Given the description of an element on the screen output the (x, y) to click on. 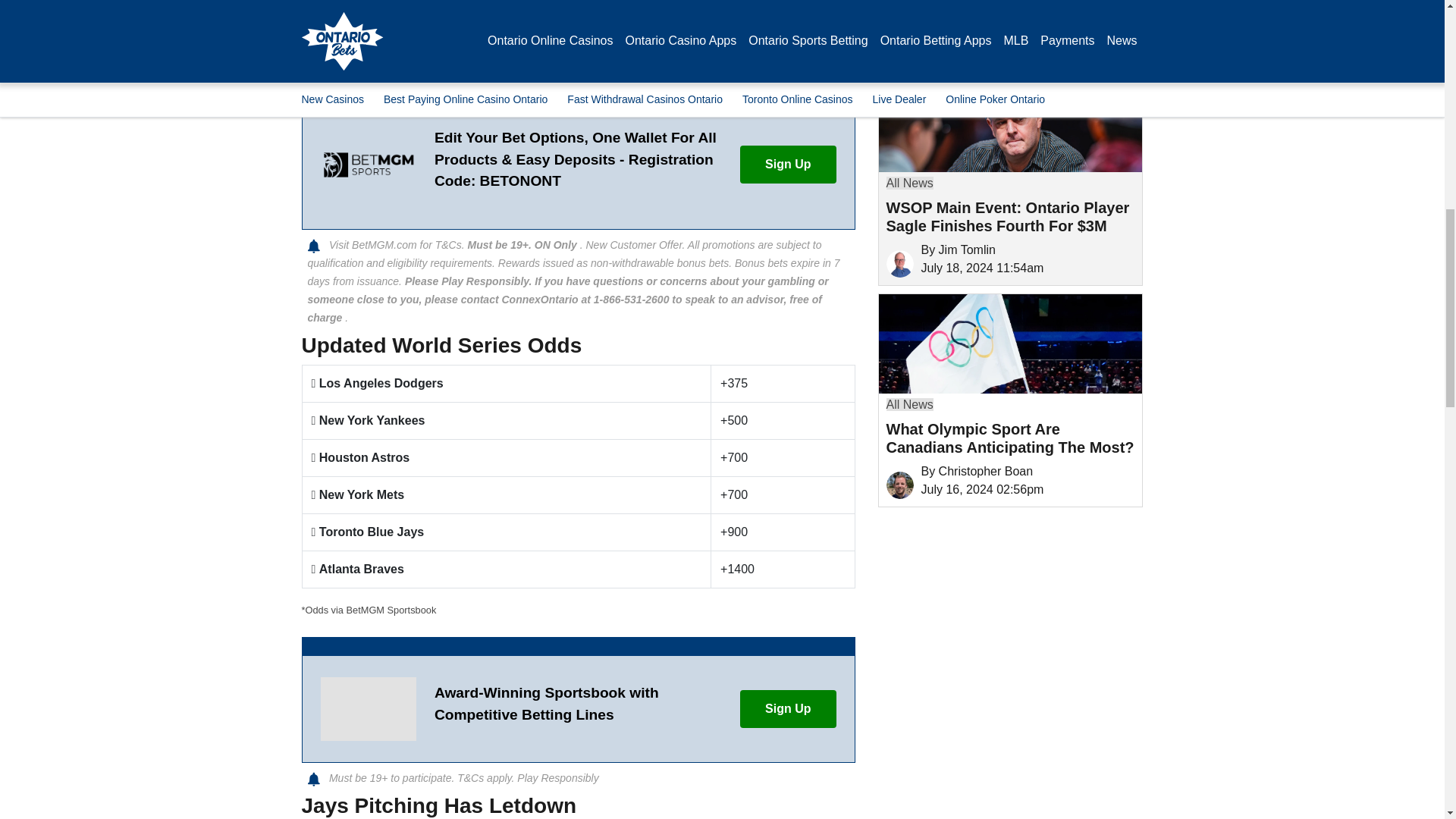
What Olympic Sport Are Canadians Anticipating The Most? (1009, 343)
OntarioBets.com (898, 484)
OntarioBets.com (898, 42)
BetMGM Sports (367, 164)
888 Sports (367, 709)
OntarioBets.com (898, 263)
